Given the description of an element on the screen output the (x, y) to click on. 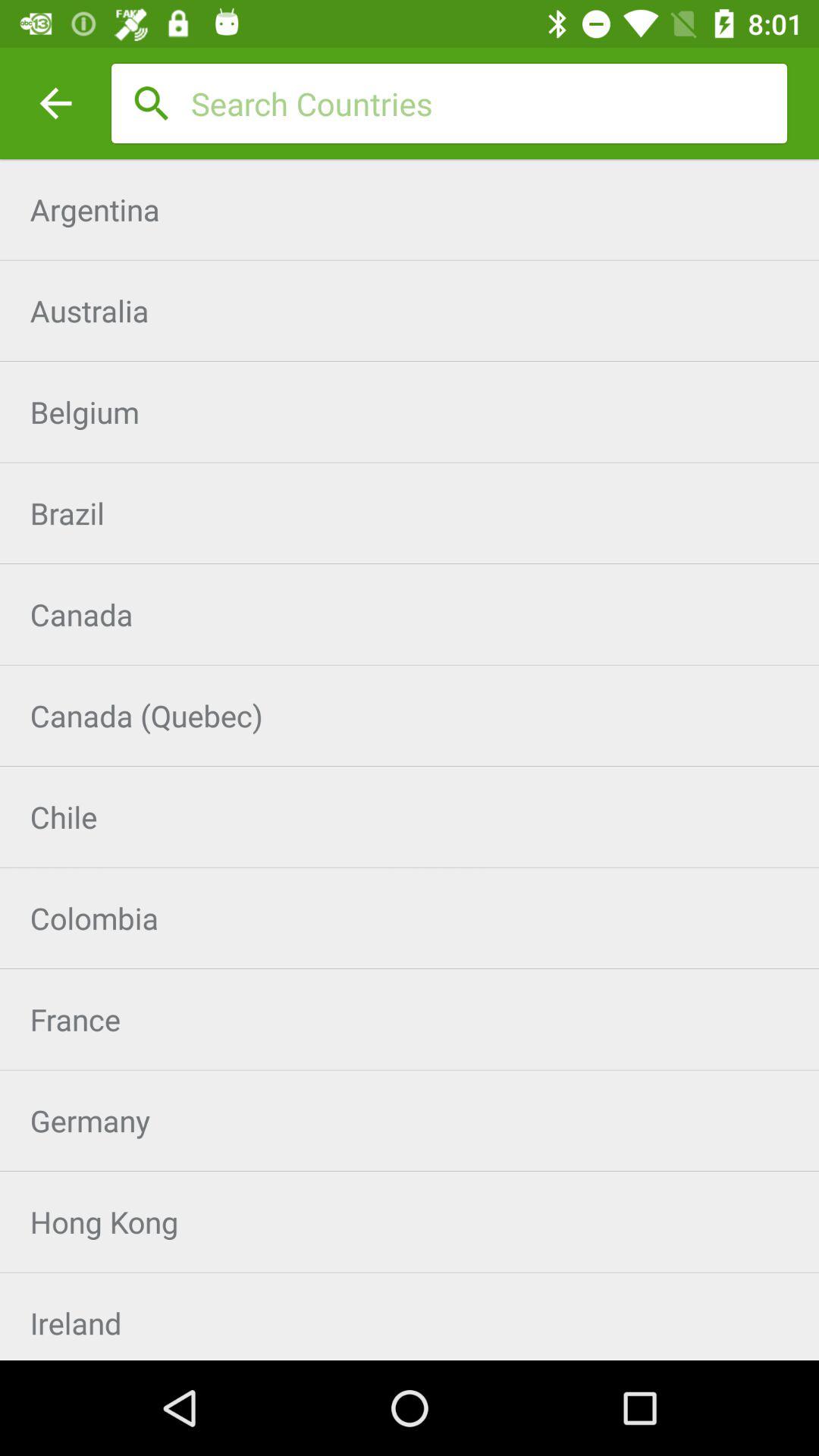
open icon below the france (409, 1120)
